Given the description of an element on the screen output the (x, y) to click on. 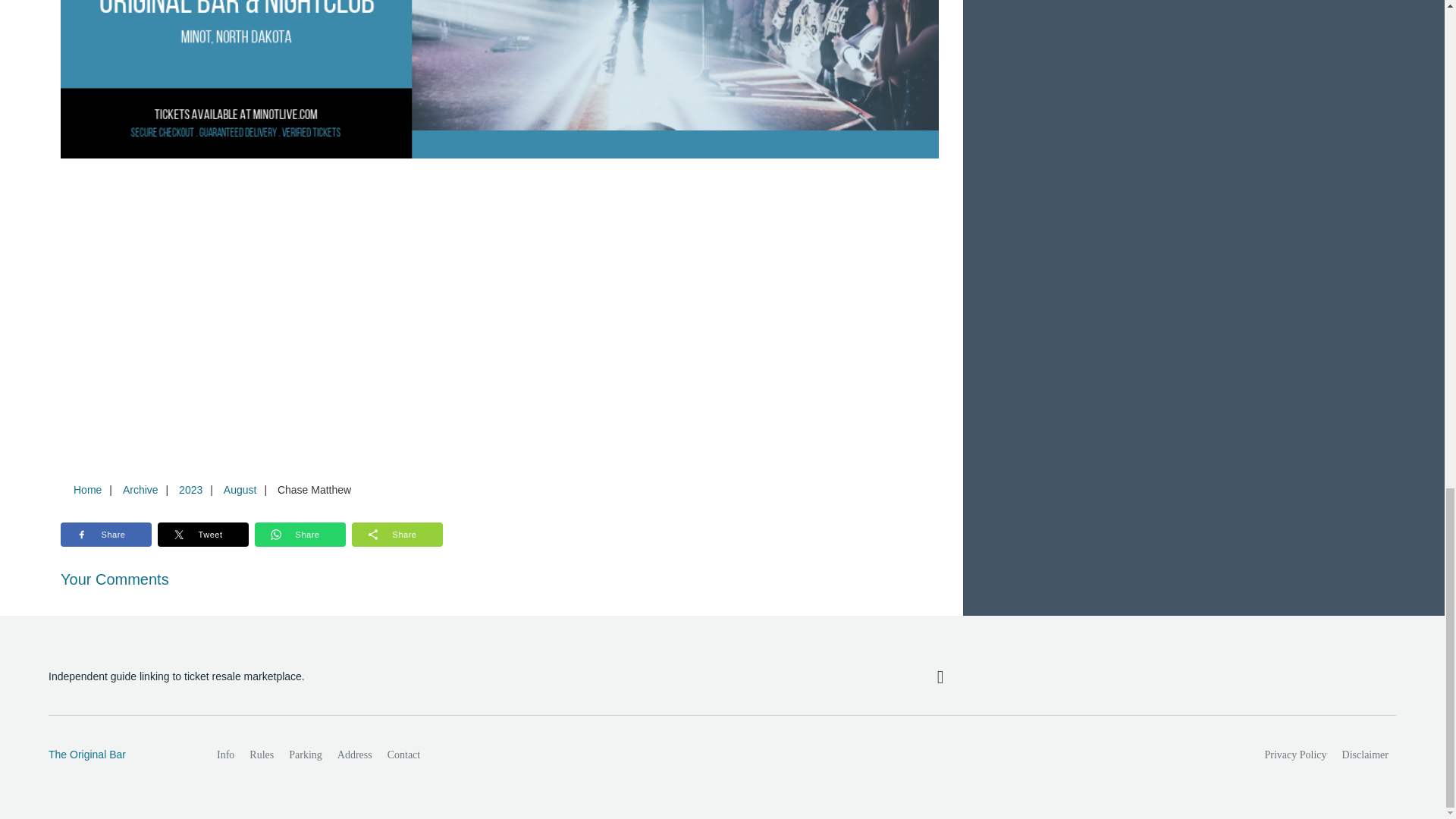
Address (355, 755)
The Original Bar (116, 754)
Archive (140, 490)
Home (87, 490)
Privacy Policy (1296, 755)
Contact (404, 755)
Rules (261, 755)
Parking (305, 755)
2023 (190, 490)
